Given the description of an element on the screen output the (x, y) to click on. 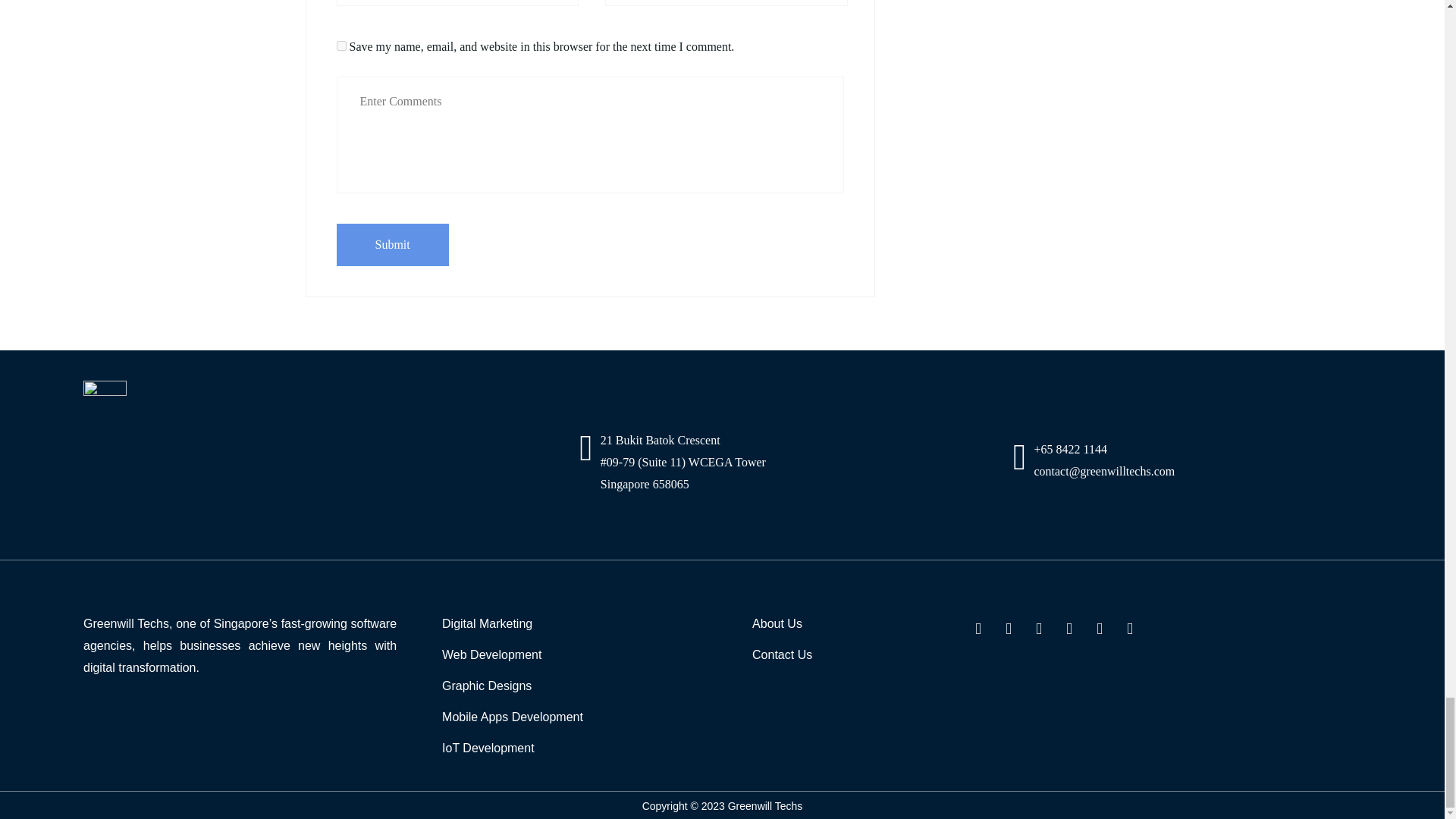
Submit (392, 244)
yes (341, 45)
